Given the description of an element on the screen output the (x, y) to click on. 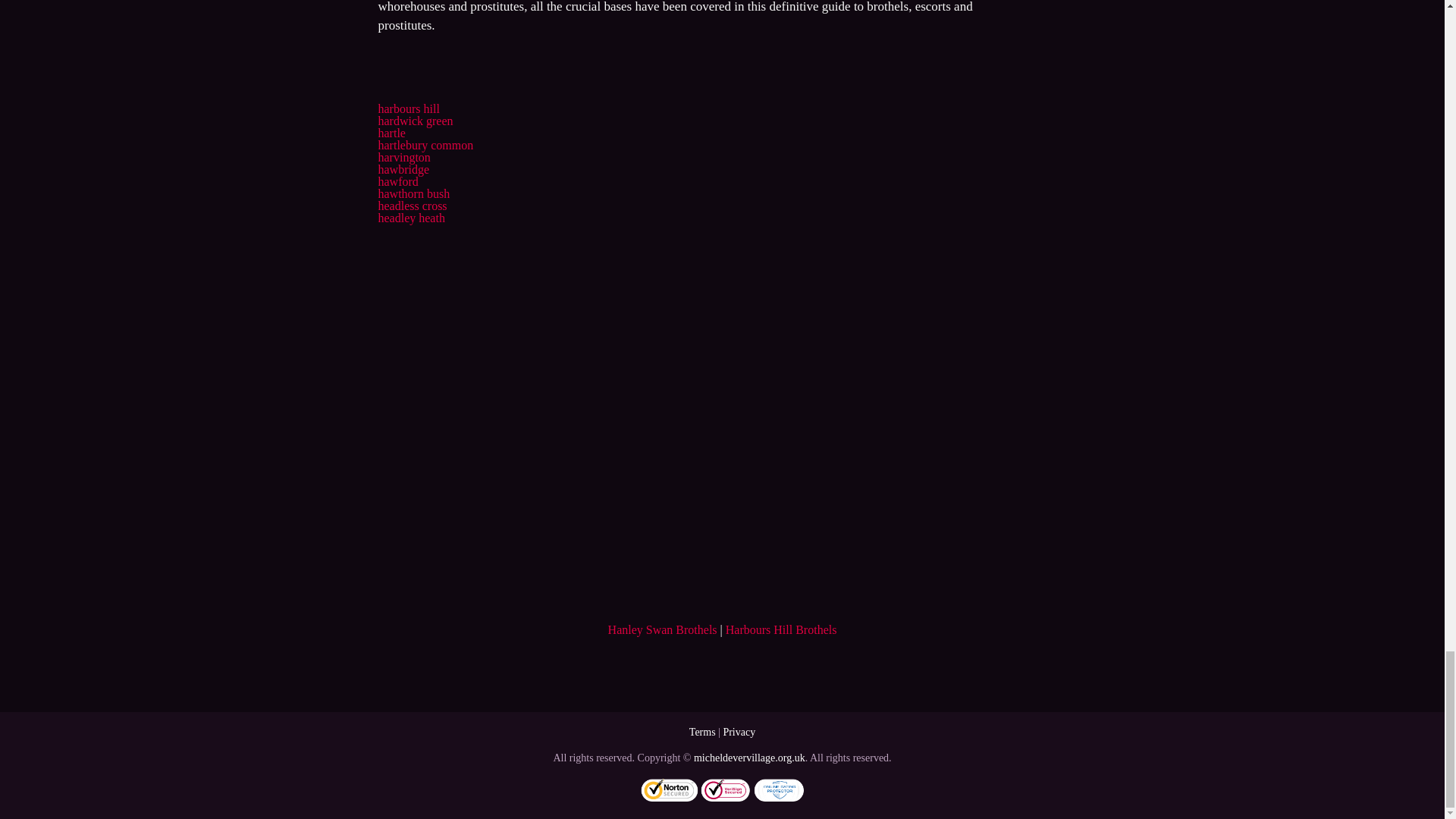
Terms (702, 731)
hawbridge (403, 169)
headless cross (411, 205)
Privacy (738, 731)
micheldevervillage.org.uk (749, 757)
headley heath (410, 217)
hartle (390, 132)
harbours hill (408, 108)
hawford (397, 181)
harvington (403, 156)
